Given the description of an element on the screen output the (x, y) to click on. 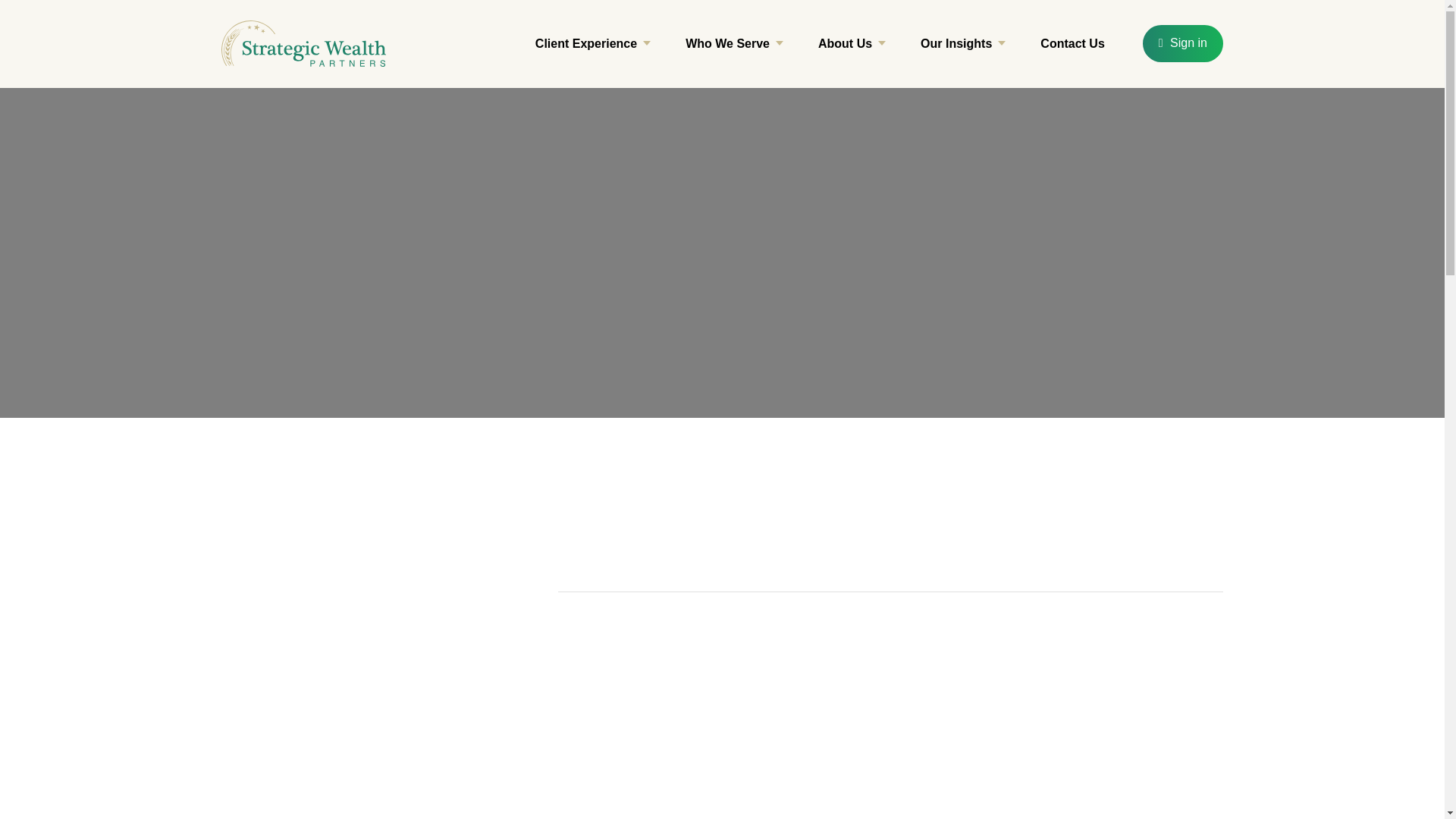
Client Experience (592, 43)
Who We Serve (734, 43)
Our Insights (963, 43)
Sign in (1182, 43)
Contact Us (1072, 43)
About Us (851, 43)
